Given the description of an element on the screen output the (x, y) to click on. 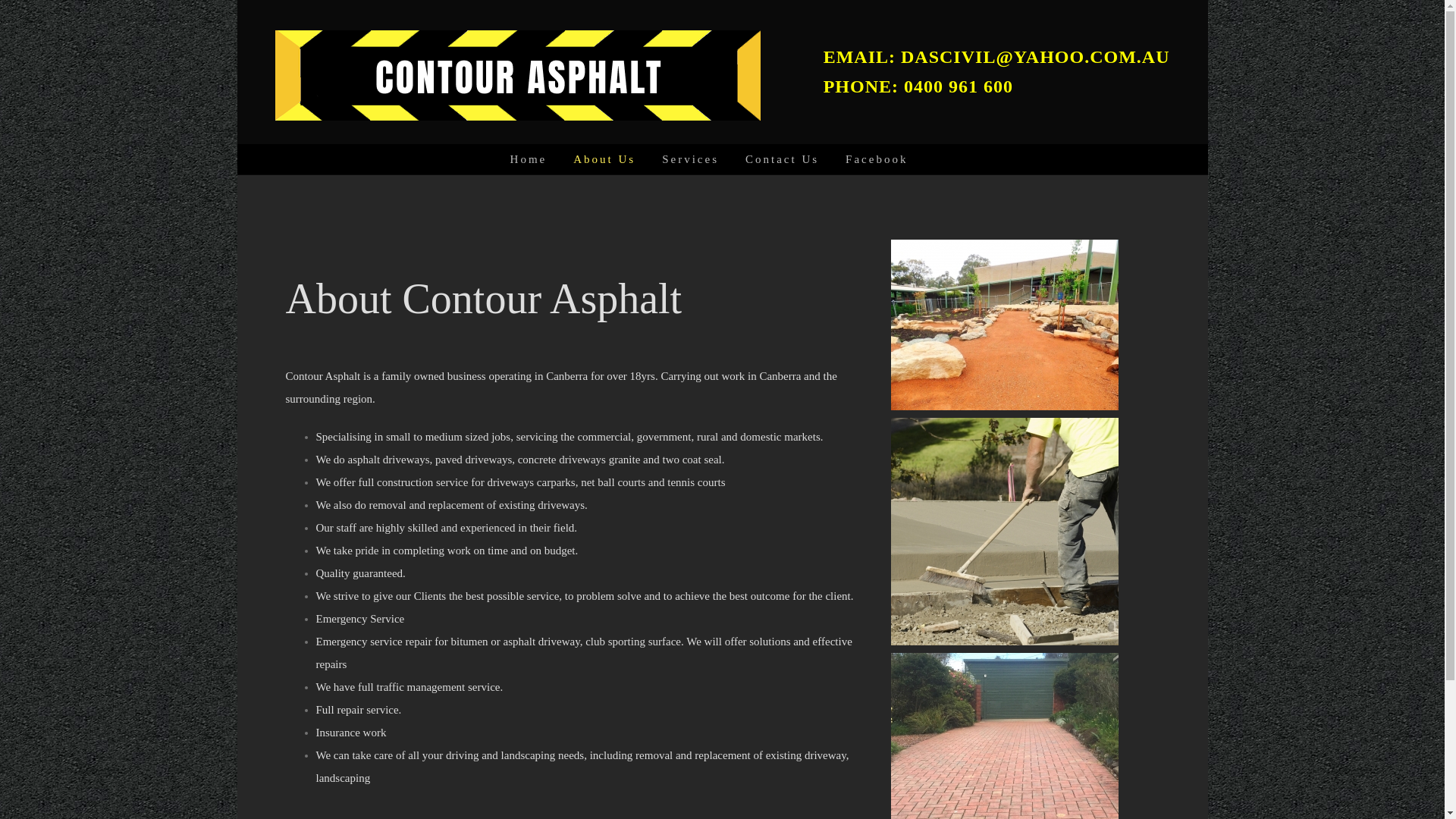
About Us Element type: text (604, 159)
Services Element type: text (690, 159)
PHONE: 0400 961 600 Element type: text (918, 85)
EMAIL: DASCIVIL@YAHOO.COM.AU Element type: text (996, 56)
Home Element type: text (528, 159)
Contact Us Element type: text (782, 159)
Facebook Element type: text (876, 159)
